Given the description of an element on the screen output the (x, y) to click on. 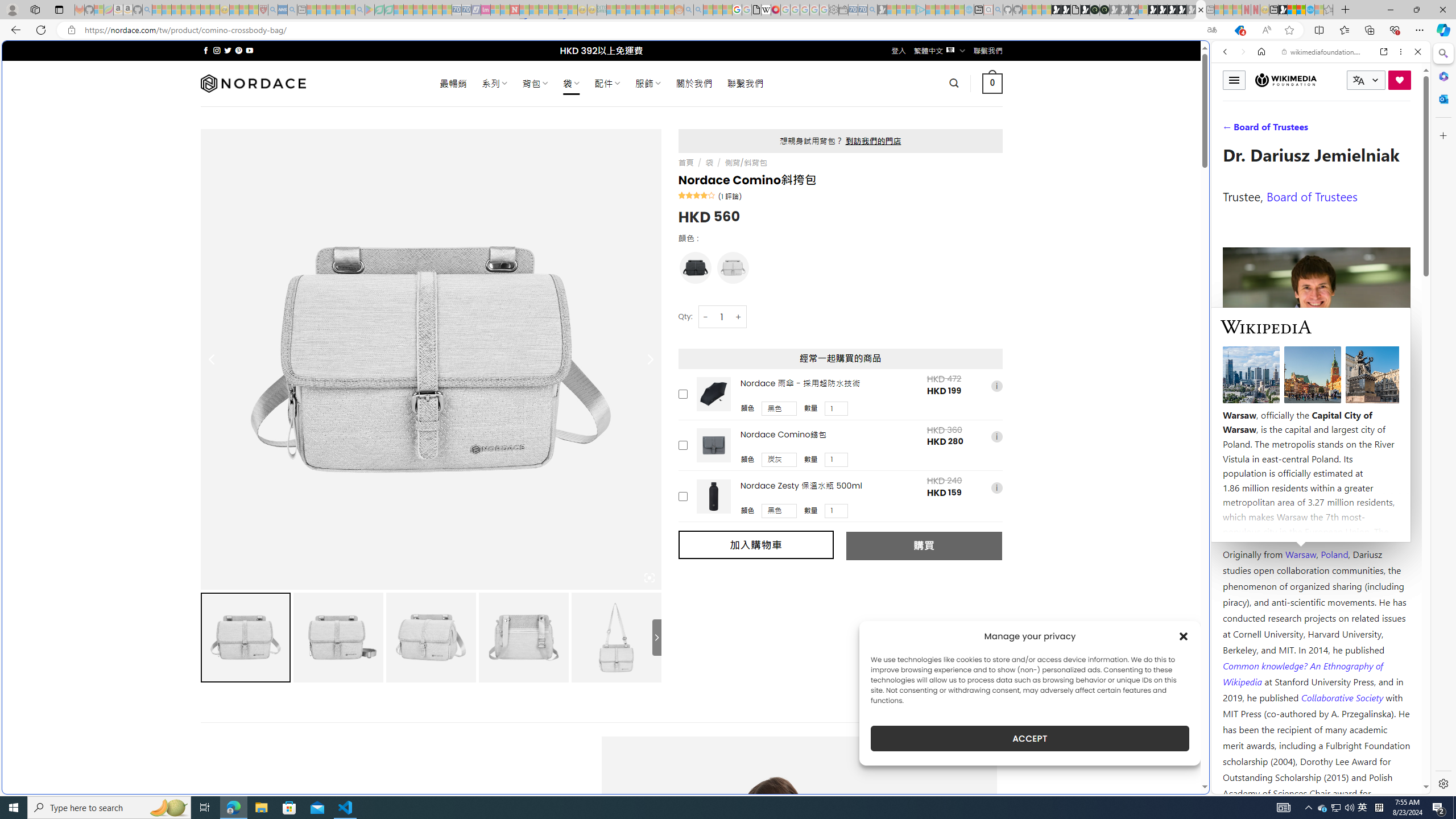
Wikimedia Foundation (1285, 79)
